Given the description of an element on the screen output the (x, y) to click on. 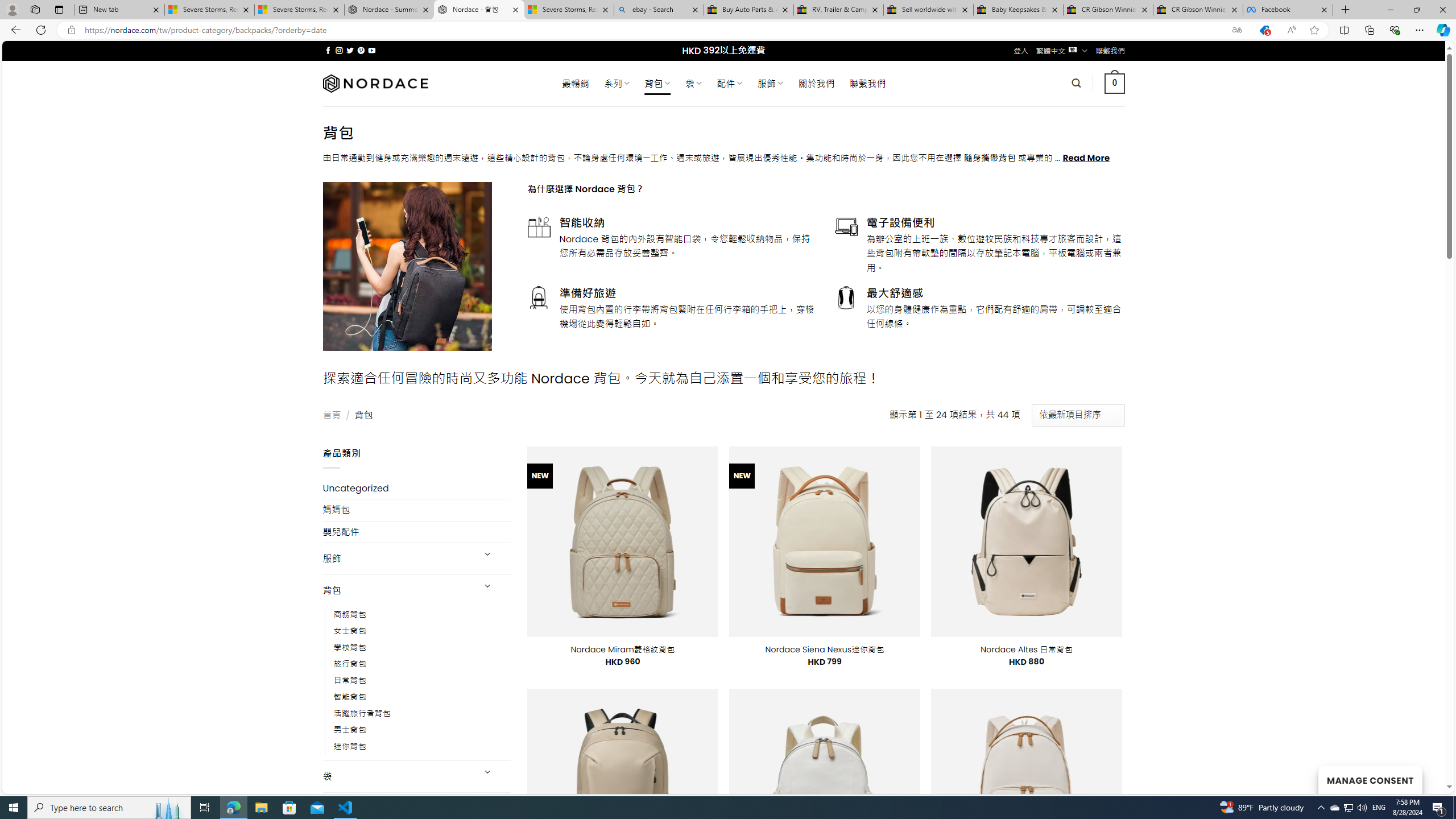
Uncategorized (416, 488)
New tab (118, 9)
App bar (728, 29)
Buy Auto Parts & Accessories | eBay (747, 9)
Sell worldwide with eBay (928, 9)
Nordace (374, 83)
Minimize (1390, 9)
